Given the description of an element on the screen output the (x, y) to click on. 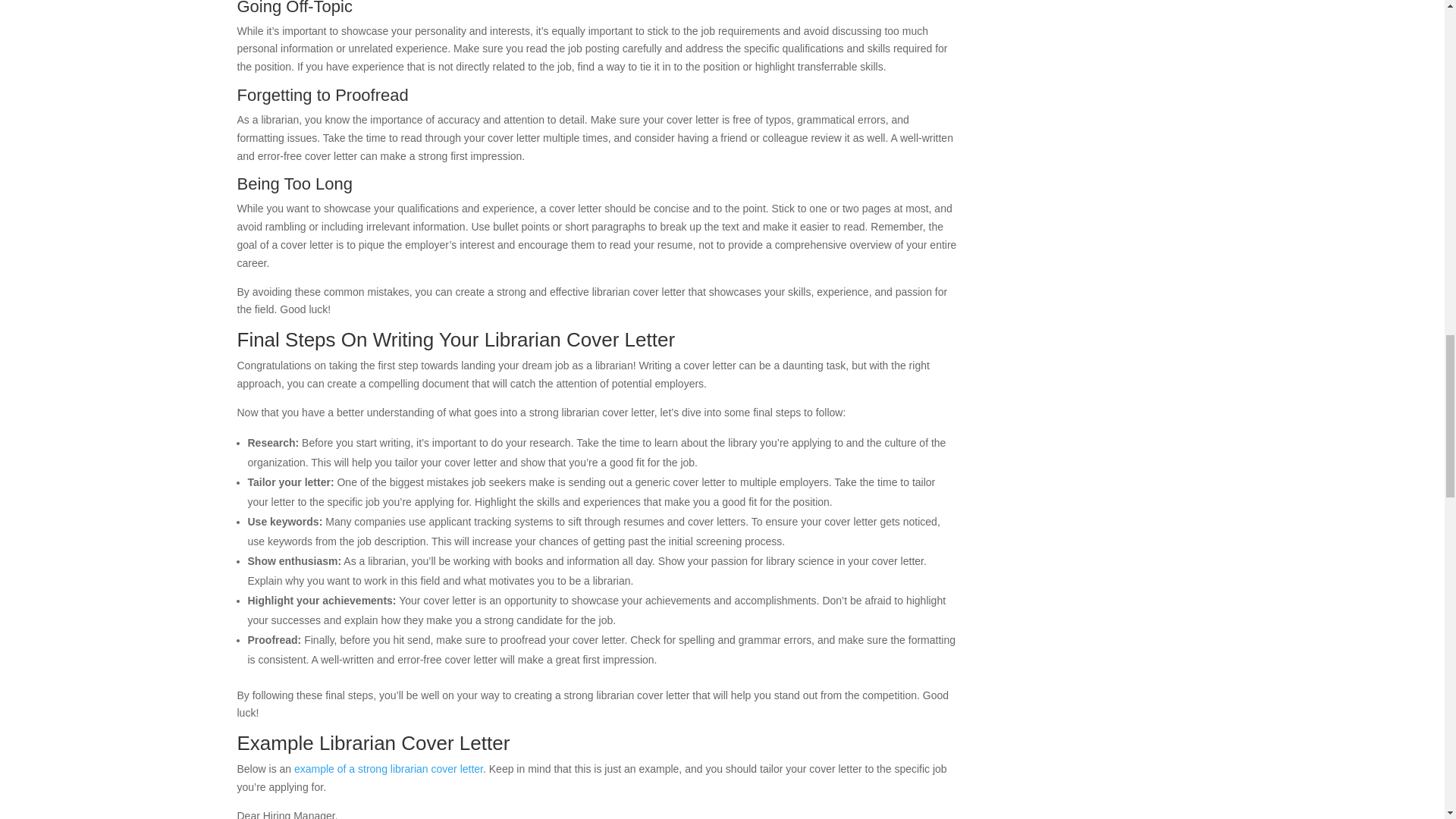
example of a strong librarian cover letter (388, 768)
